Given the description of an element on the screen output the (x, y) to click on. 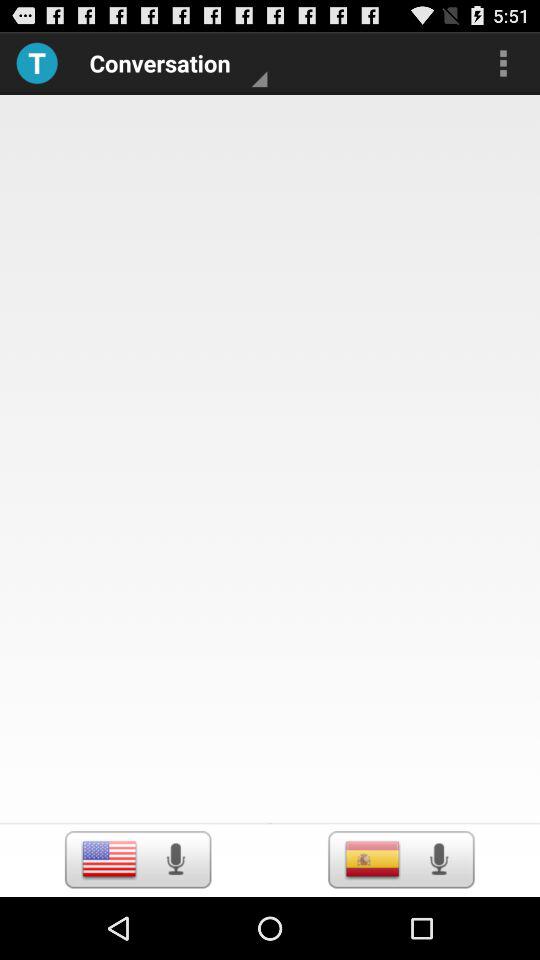
select language (372, 859)
